Given the description of an element on the screen output the (x, y) to click on. 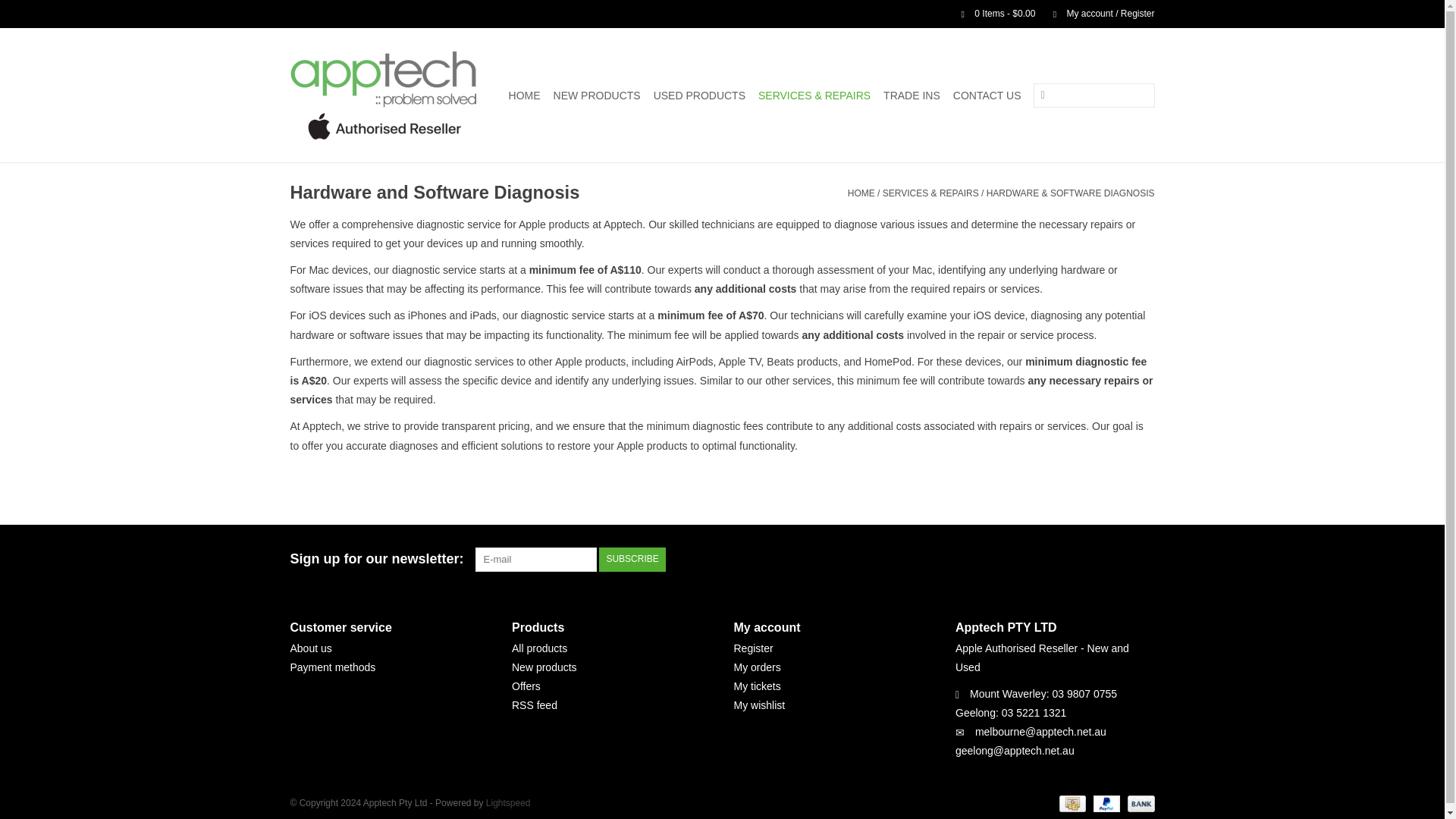
HOME (523, 95)
Cart (992, 13)
Apptech Pty Ltd (385, 94)
My account (1096, 13)
NEW PRODUCTS (596, 95)
New Products (596, 95)
